Given the description of an element on the screen output the (x, y) to click on. 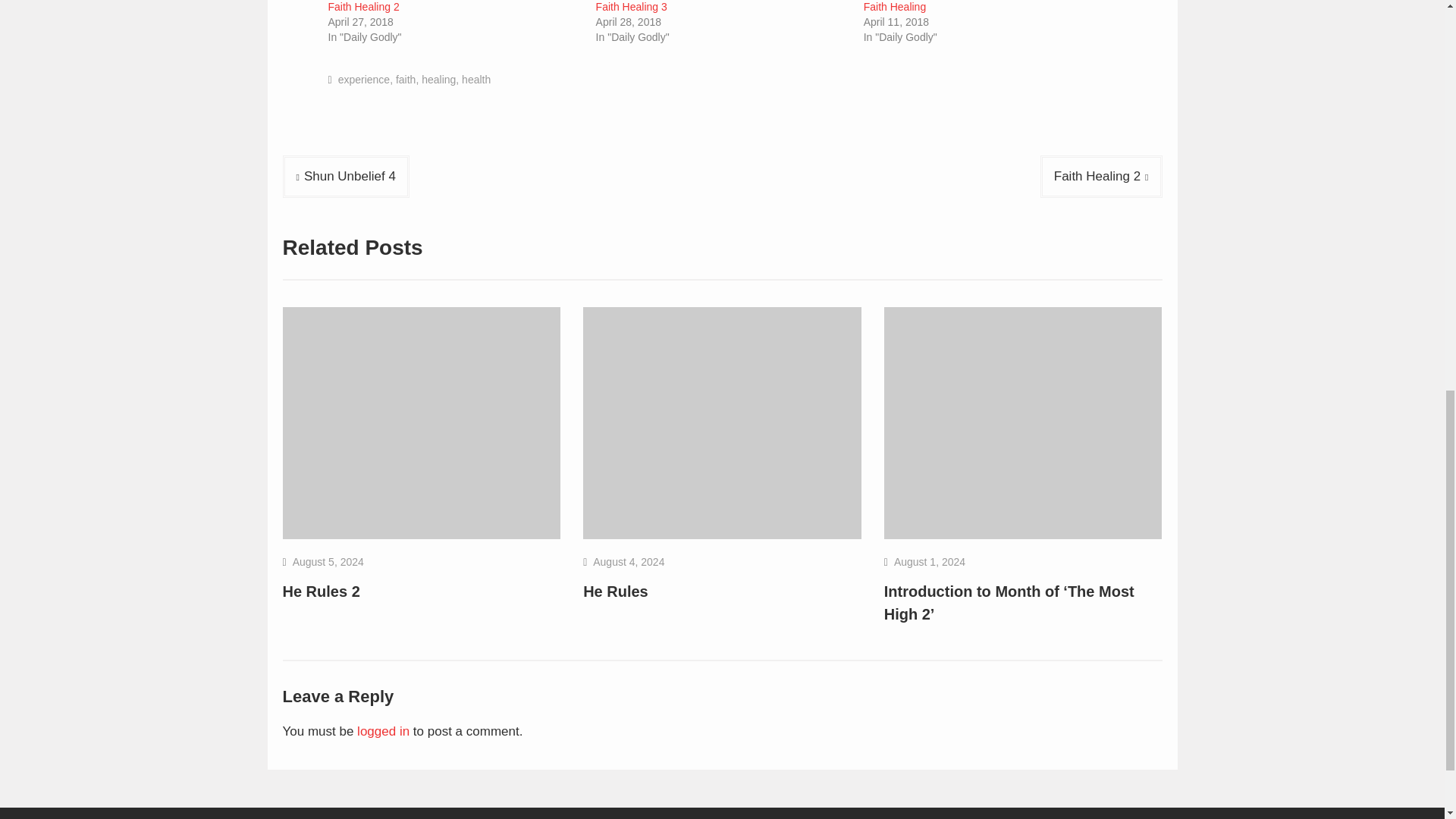
Faith Healing 2 (362, 6)
Faith Healing 3 (630, 6)
Faith Healing (894, 6)
